Given the description of an element on the screen output the (x, y) to click on. 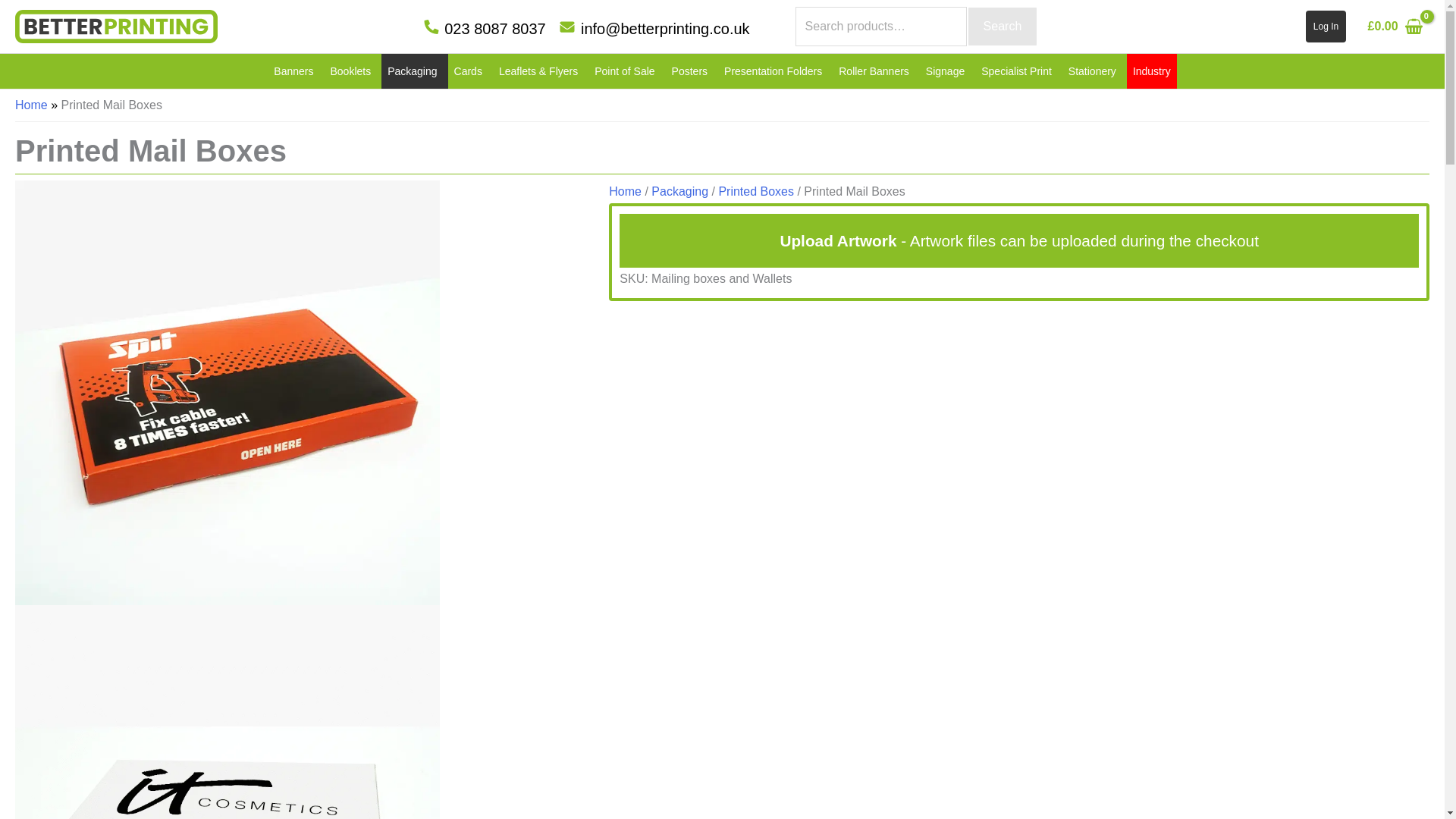
Log In (1325, 26)
it cosmetics mailer (226, 814)
Booklets (352, 71)
Packaging (413, 71)
Cards (470, 71)
Banners (295, 71)
Search (1003, 25)
023 8087 8037 (484, 28)
Closed Mailer Box (226, 391)
